Given the description of an element on the screen output the (x, y) to click on. 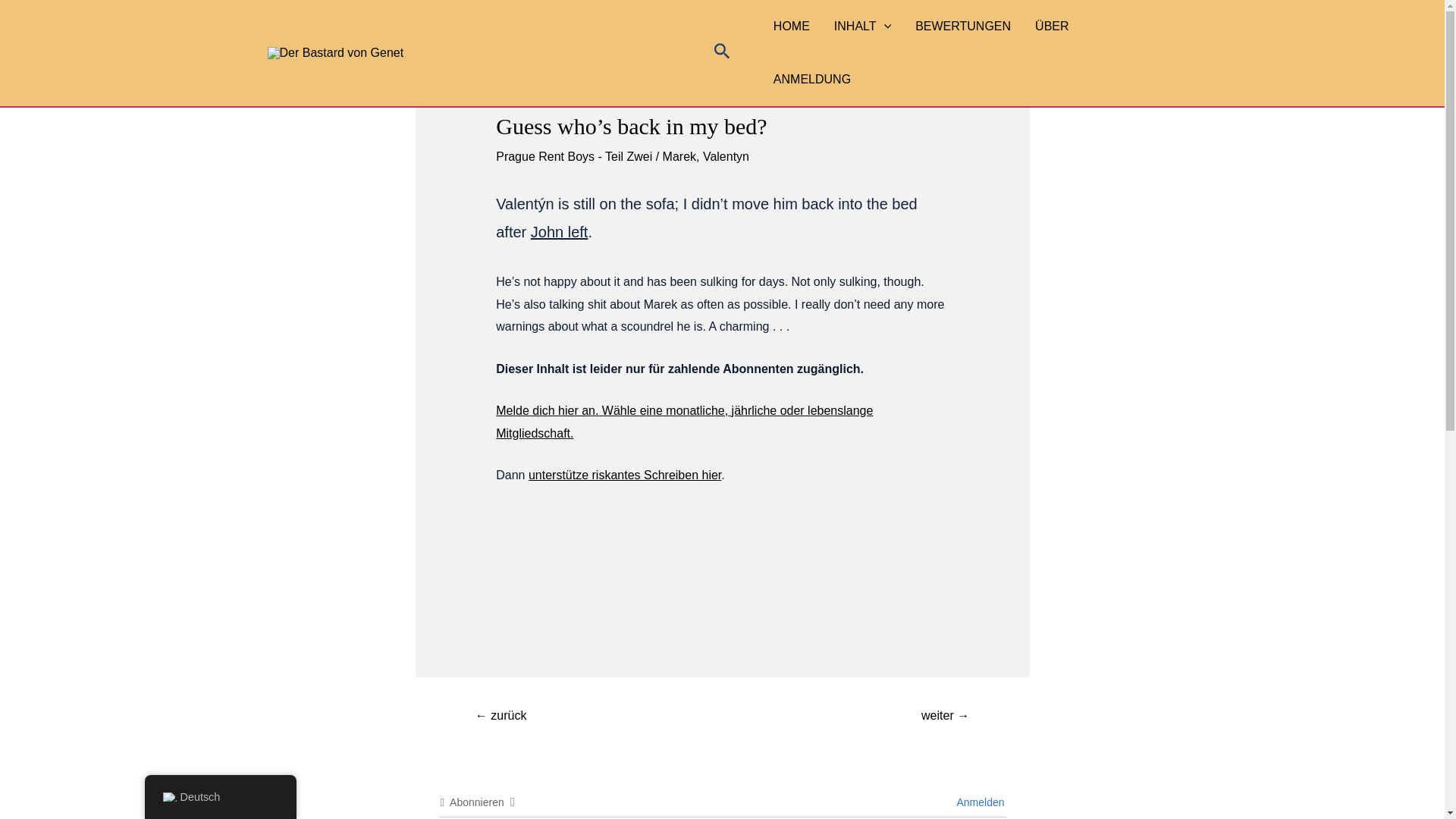
Prague Rent Boys - Teil Zwei (574, 155)
Valentyn (726, 155)
HOME (791, 26)
Marek (678, 155)
ANMELDUNG (812, 79)
The ol' switcheroo (500, 716)
Vows renewed (944, 716)
BEWERTUNGEN (962, 26)
INHALT (862, 26)
